Given the description of an element on the screen output the (x, y) to click on. 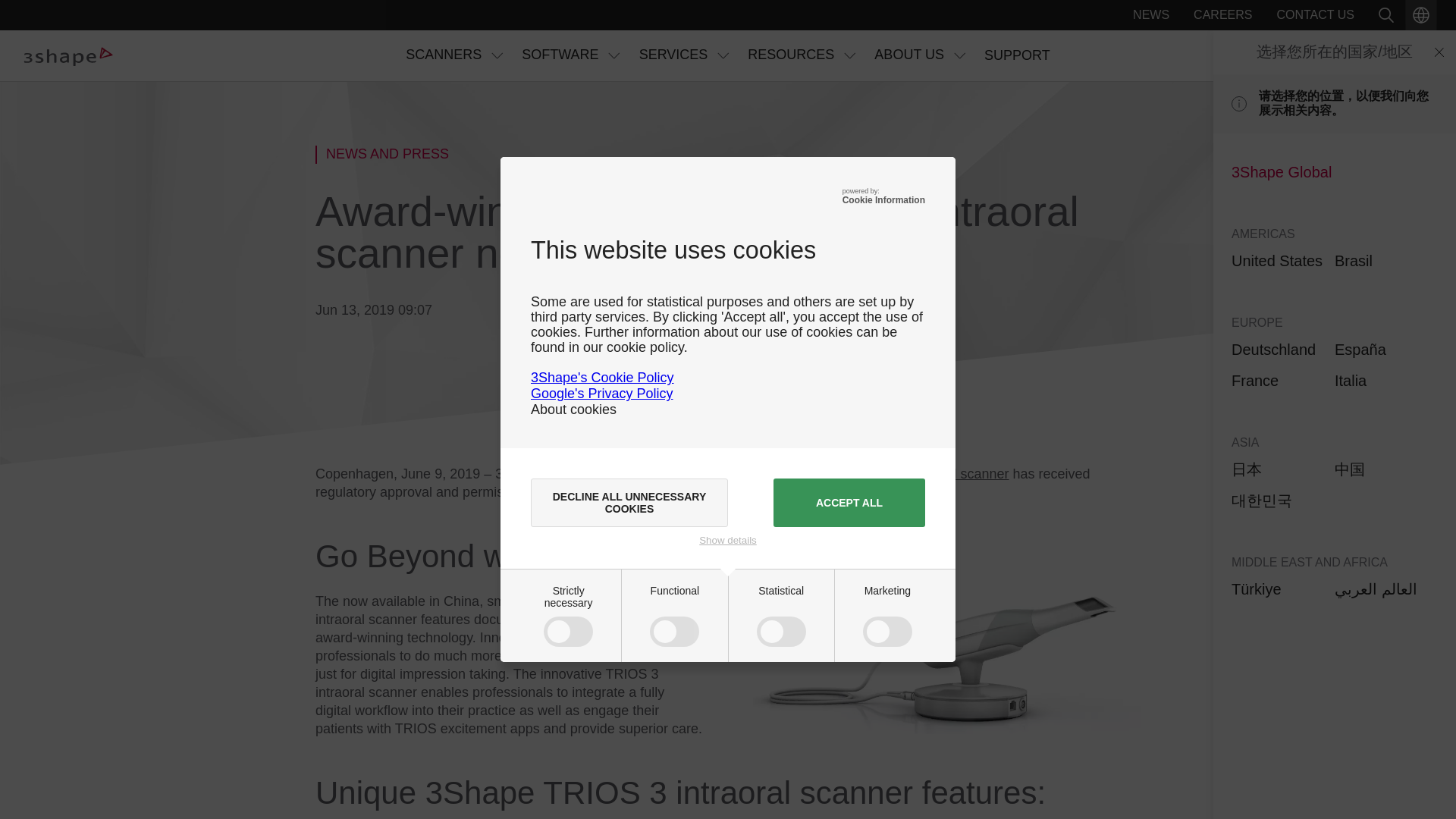
Cookie Information (883, 199)
3Shape's Cookie Policy (602, 377)
Show details (727, 540)
Google's Privacy Policy (601, 393)
DECLINE ALL UNNECESSARY COOKIES (629, 502)
ACCEPT ALL (848, 502)
About cookies (573, 409)
